Given the description of an element on the screen output the (x, y) to click on. 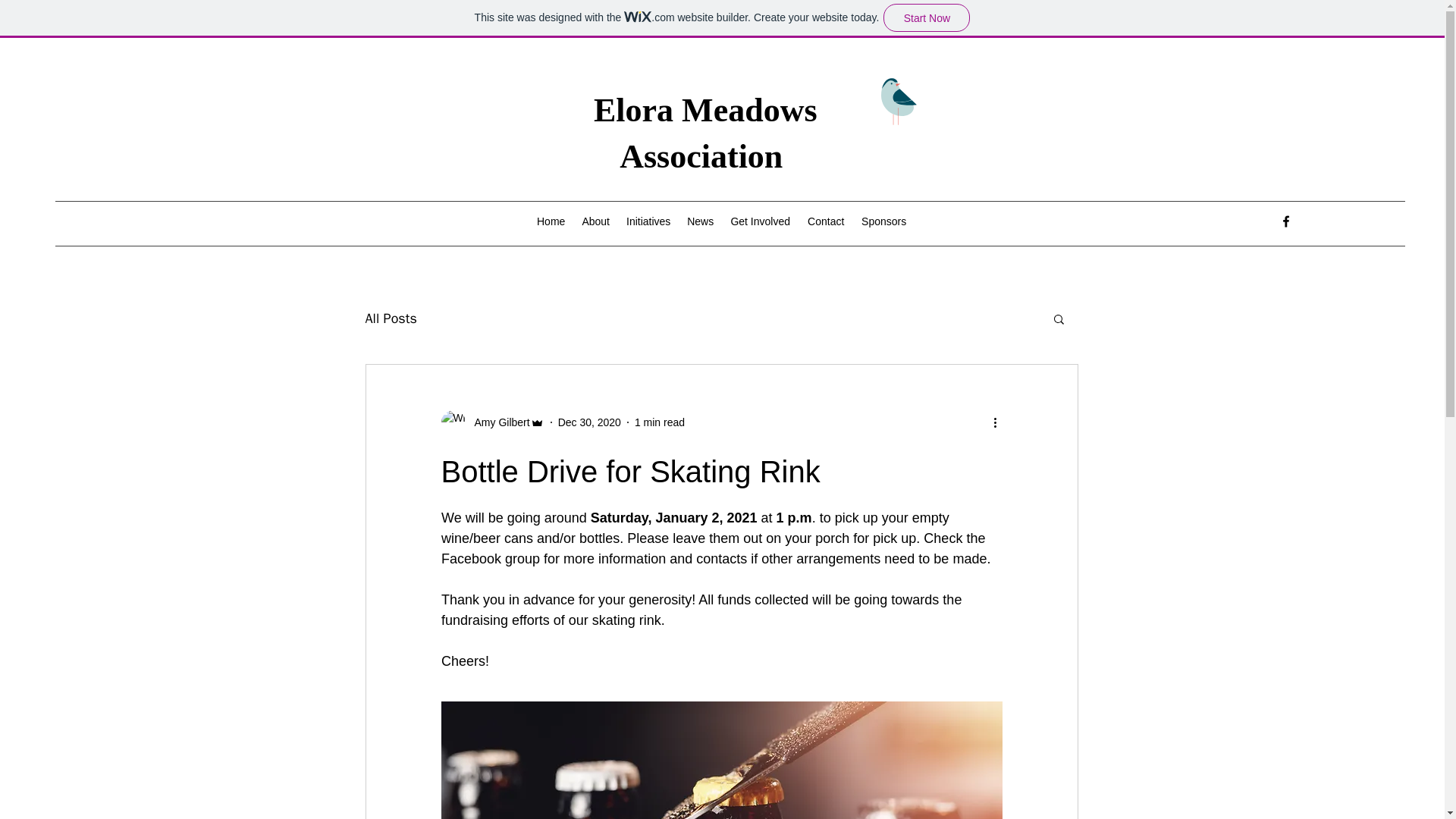
Get Involved (759, 220)
Amy Gilbert (497, 421)
Contact (825, 220)
Elora Meadows Association  (705, 133)
Initiatives (647, 220)
1 min read (659, 421)
Sponsors (883, 220)
Home (550, 220)
Amy Gilbert (492, 422)
News (700, 220)
